Given the description of an element on the screen output the (x, y) to click on. 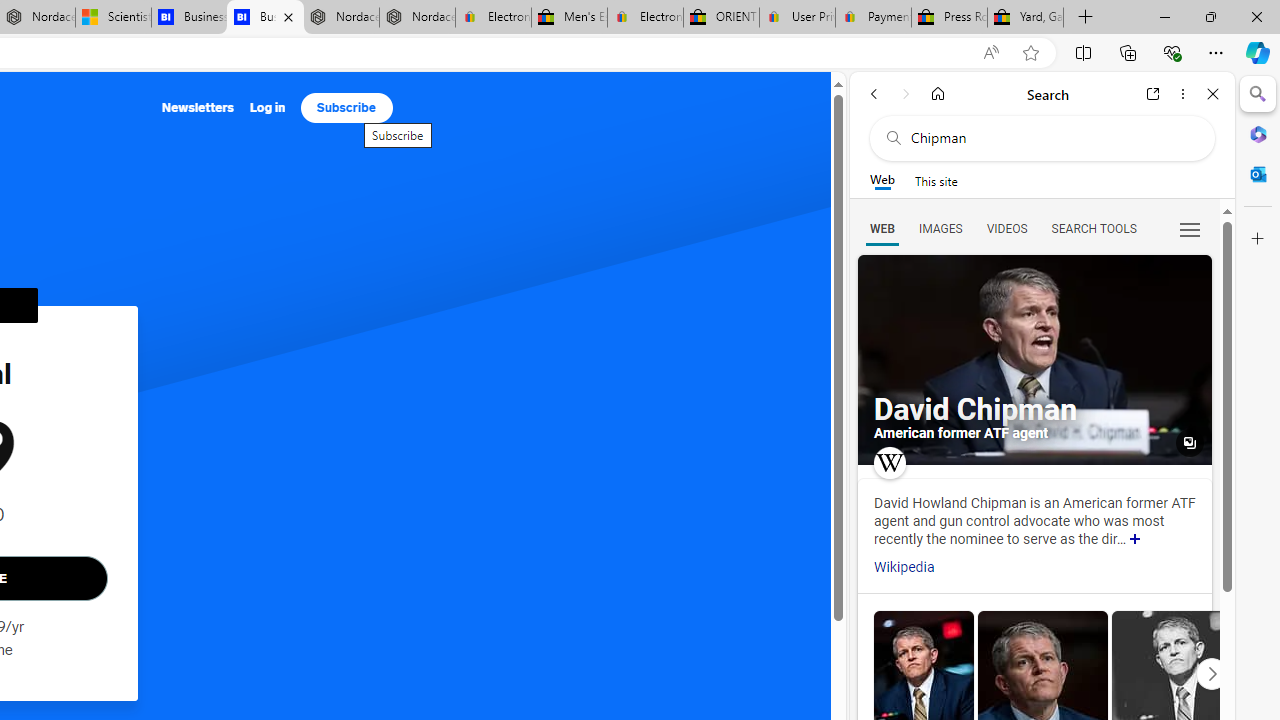
All images (1034, 359)
